Given the description of an element on the screen output the (x, y) to click on. 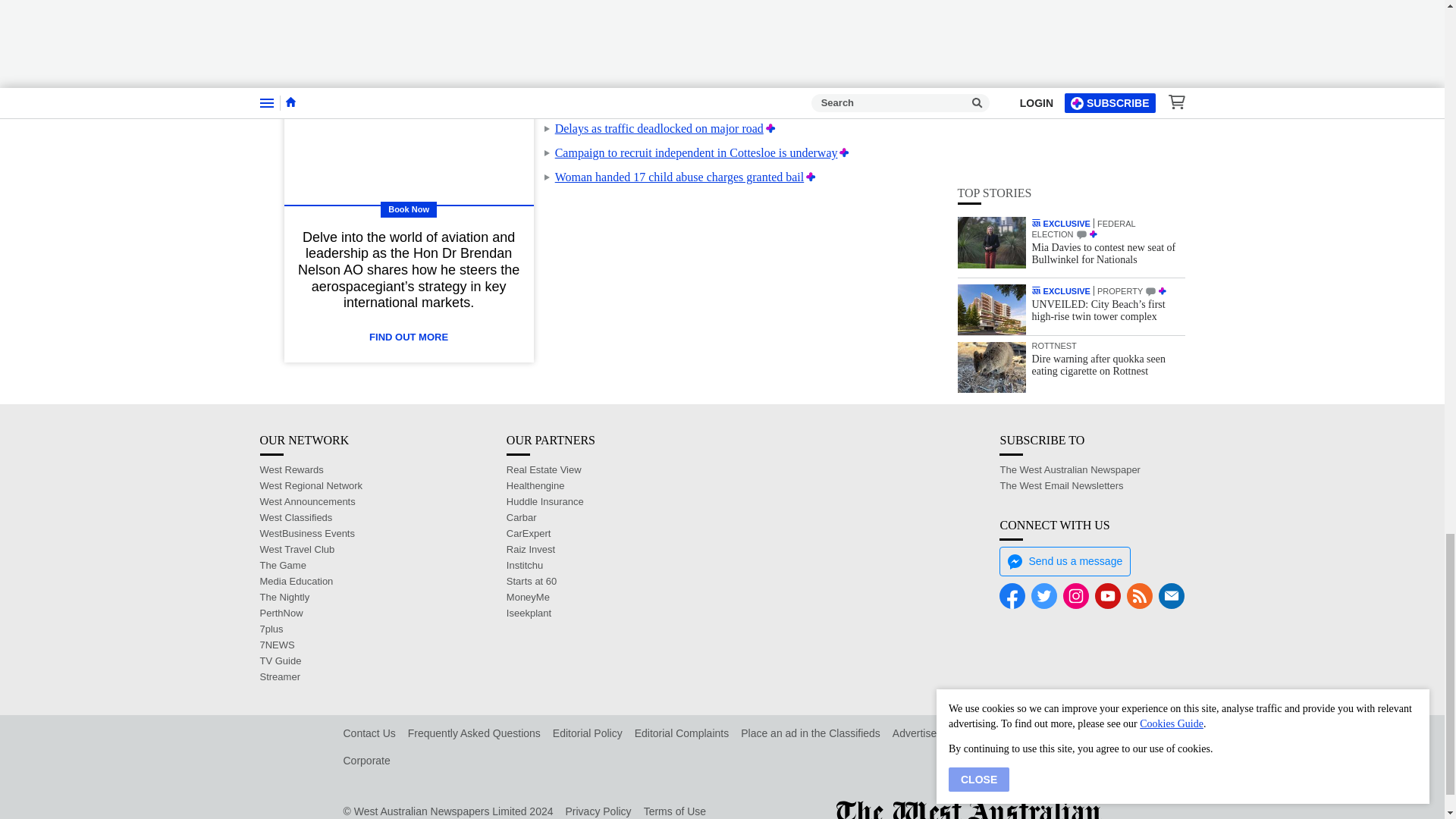
Premium (837, 79)
Premium (748, 55)
Premium (844, 152)
Premium (766, 103)
Premium (770, 128)
Premium (810, 176)
